Given the description of an element on the screen output the (x, y) to click on. 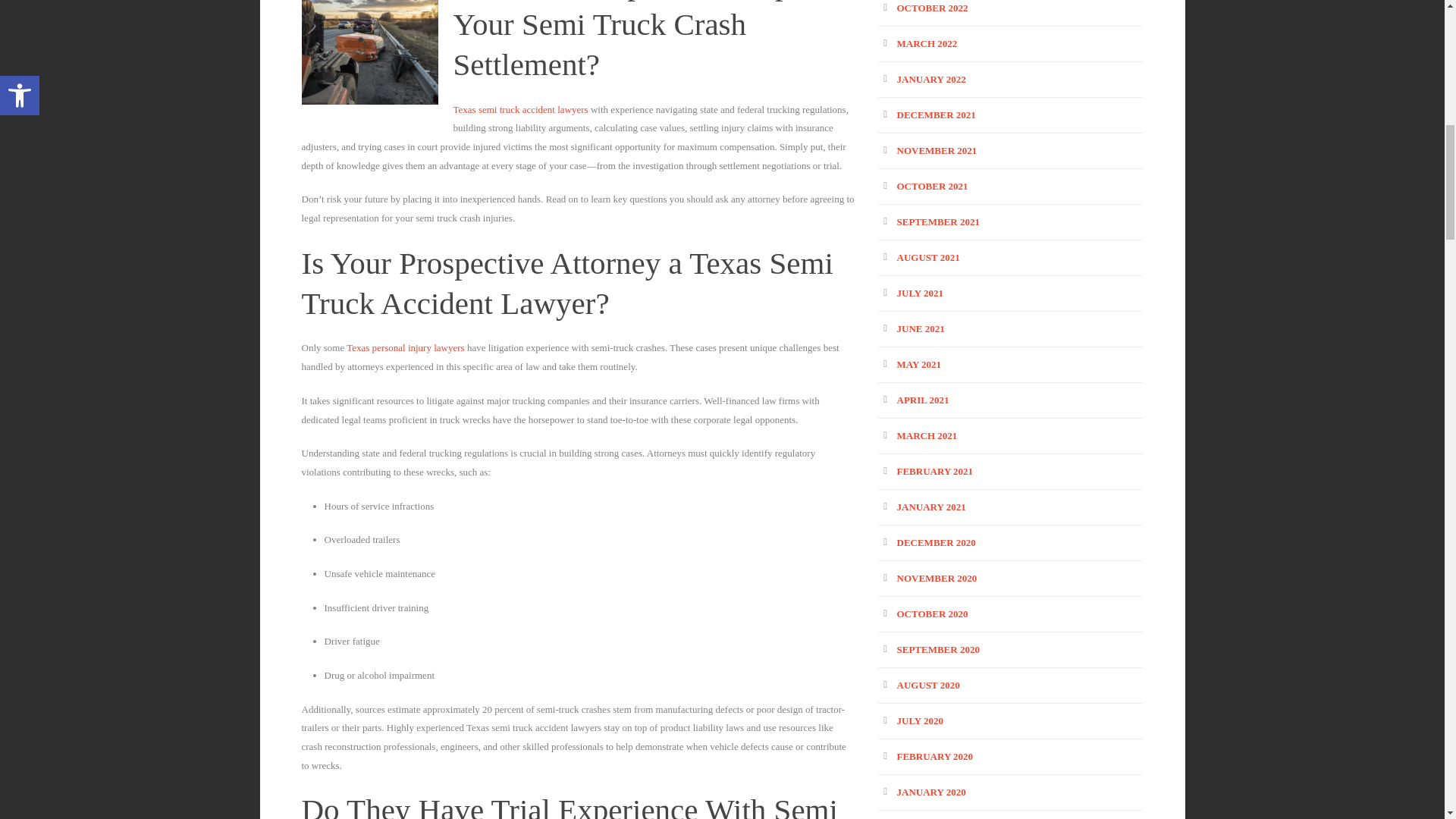
Texas semi truck accident lawyers (520, 109)
Texas personal injury lawyers (405, 347)
